Given the description of an element on the screen output the (x, y) to click on. 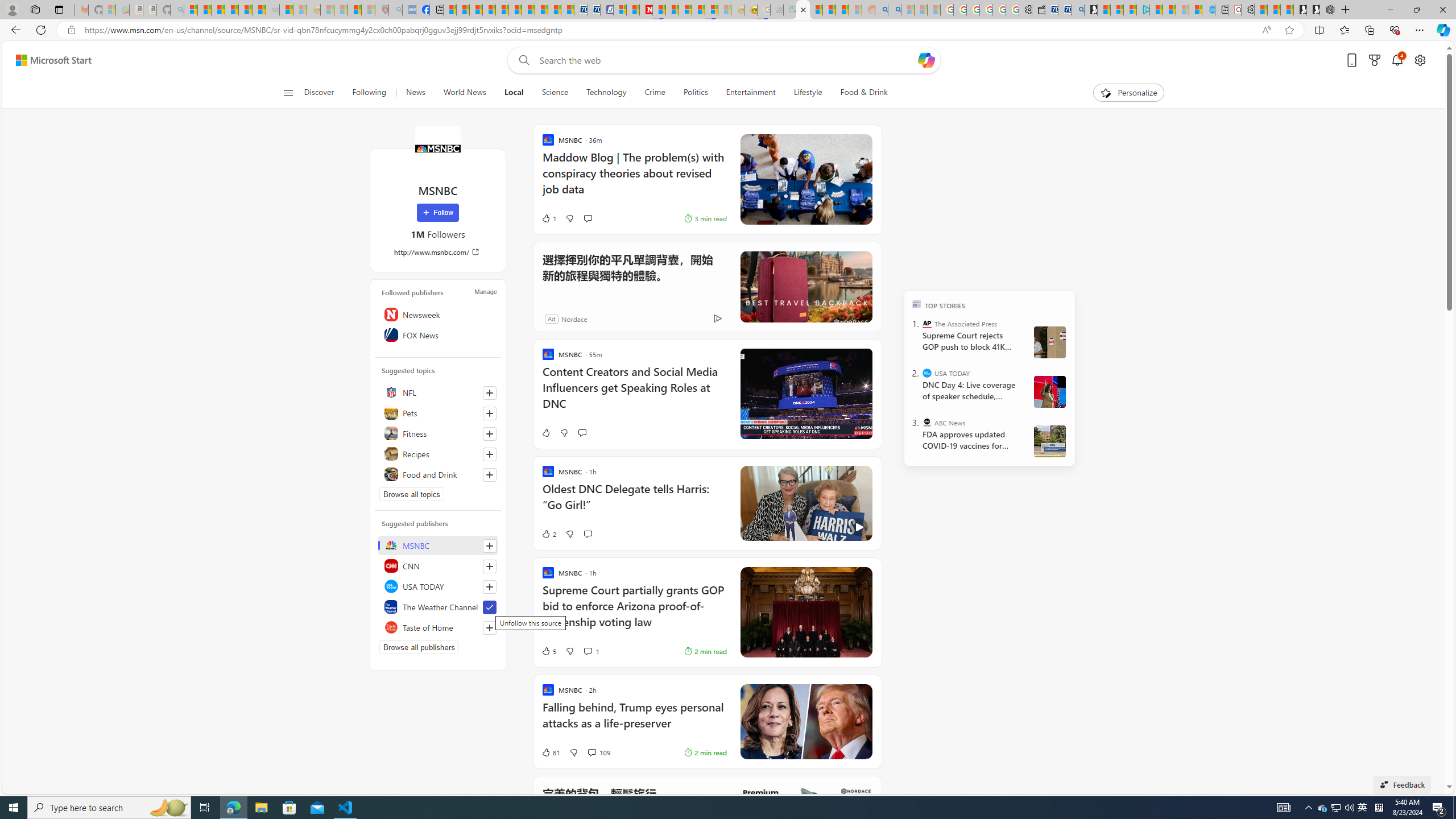
Newsweek (437, 314)
Recipes (437, 453)
The Weather Channel - MSN (218, 9)
